Given the description of an element on the screen output the (x, y) to click on. 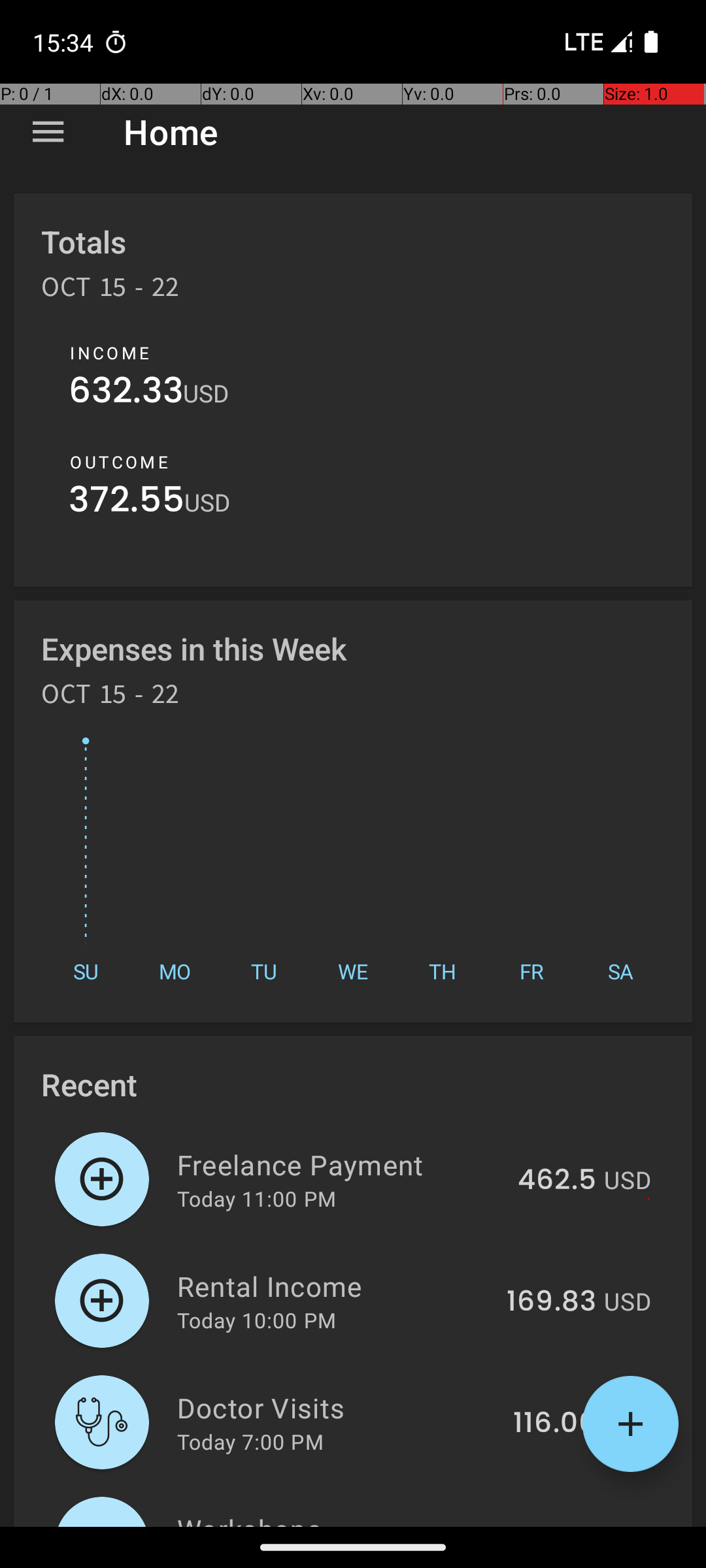
632.33 Element type: android.widget.TextView (125, 393)
372.55 Element type: android.widget.TextView (126, 502)
Today 11:00 PM Element type: android.widget.TextView (256, 1198)
462.5 Element type: android.widget.TextView (556, 1180)
Rental Income Element type: android.widget.TextView (334, 1285)
Today 10:00 PM Element type: android.widget.TextView (256, 1320)
169.83 Element type: android.widget.TextView (550, 1301)
Today 7:00 PM Element type: android.widget.TextView (250, 1441)
116.06 Element type: android.widget.TextView (554, 1423)
Workshops Element type: android.widget.TextView (334, 1518)
167.46 Element type: android.widget.TextView (551, 1524)
